Given the description of an element on the screen output the (x, y) to click on. 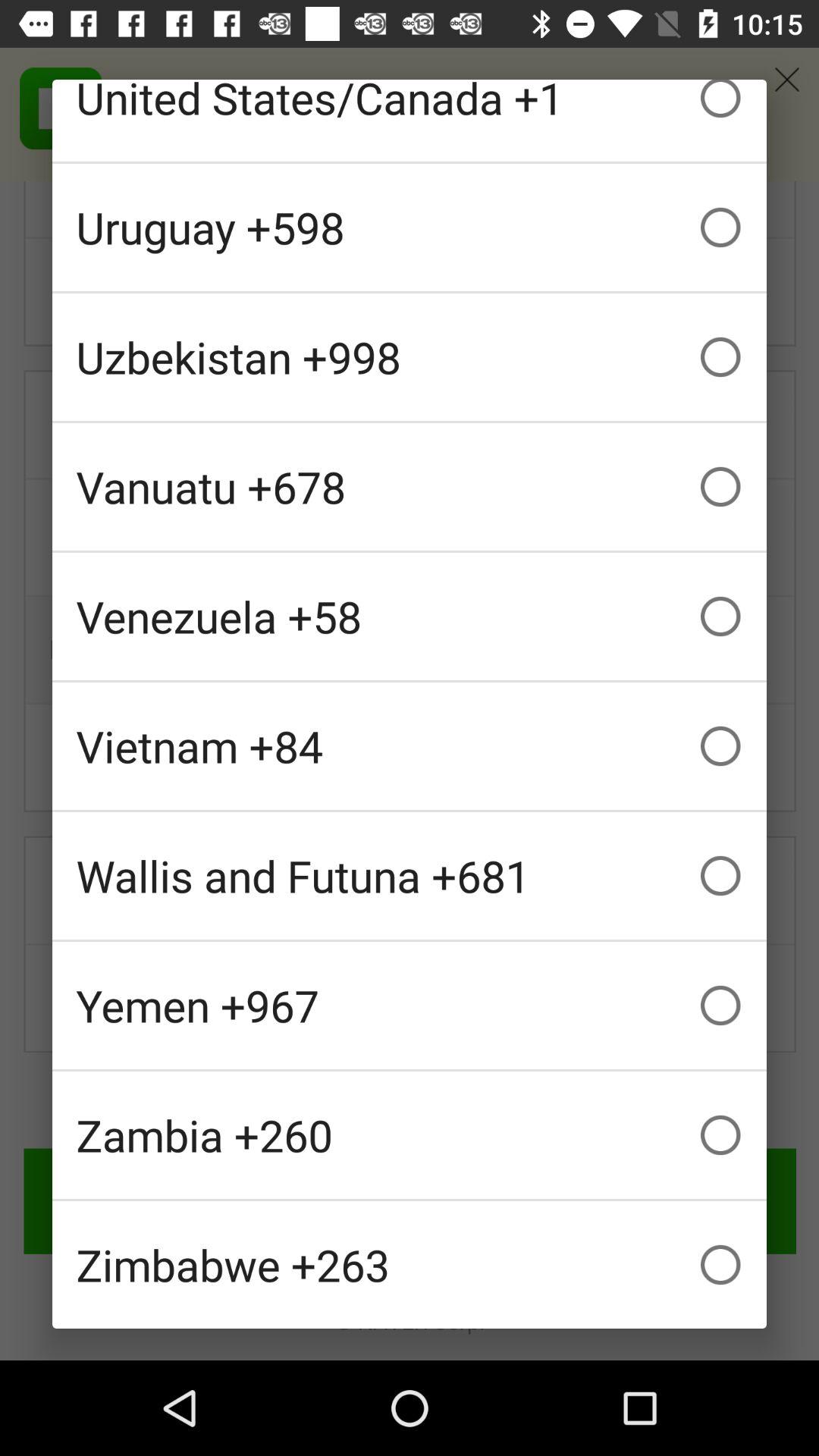
turn off uzbekistan +998 (409, 356)
